Given the description of an element on the screen output the (x, y) to click on. 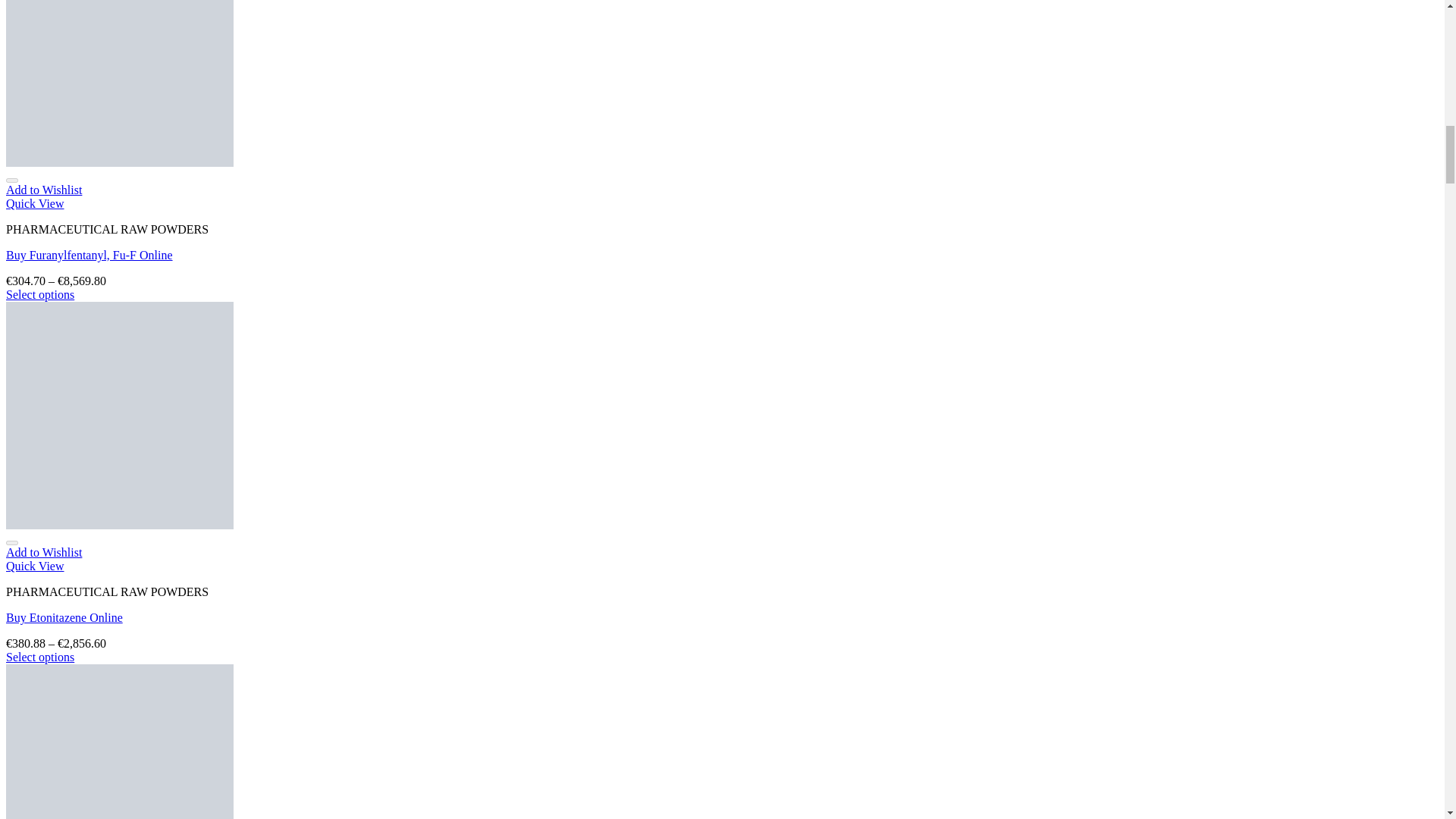
Add to Wishlist (43, 189)
Buy Furanylfentanyl, Fu-F Online (89, 254)
Quick View (34, 203)
Select options (39, 294)
